Given the description of an element on the screen output the (x, y) to click on. 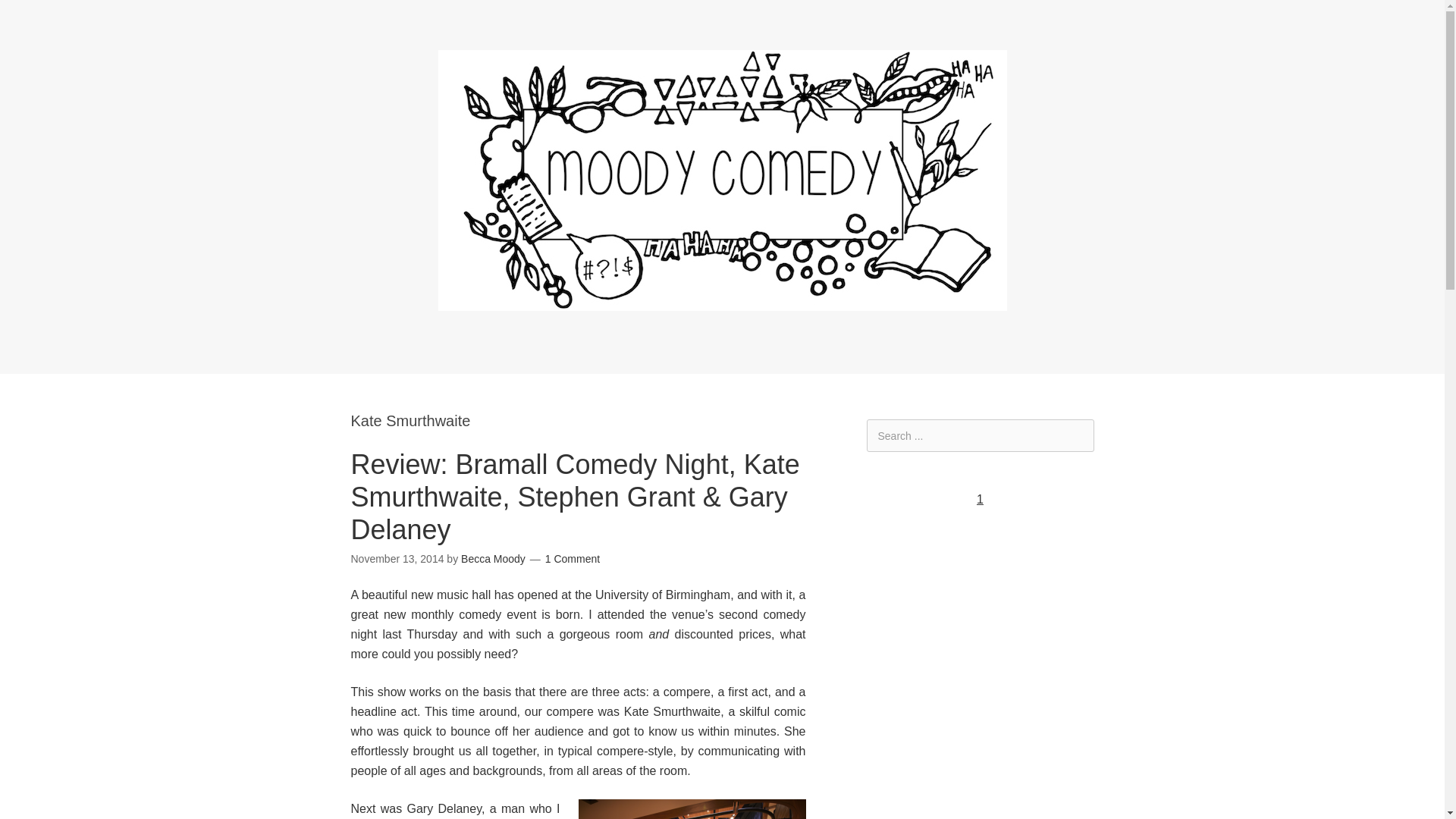
Thursday, November 13, 2014, 7:49 am (397, 558)
Posts by Becca Moody (493, 558)
Search for: (979, 435)
MoodyComedy (722, 299)
Becca Moody (493, 558)
1 Comment (571, 558)
